Given the description of an element on the screen output the (x, y) to click on. 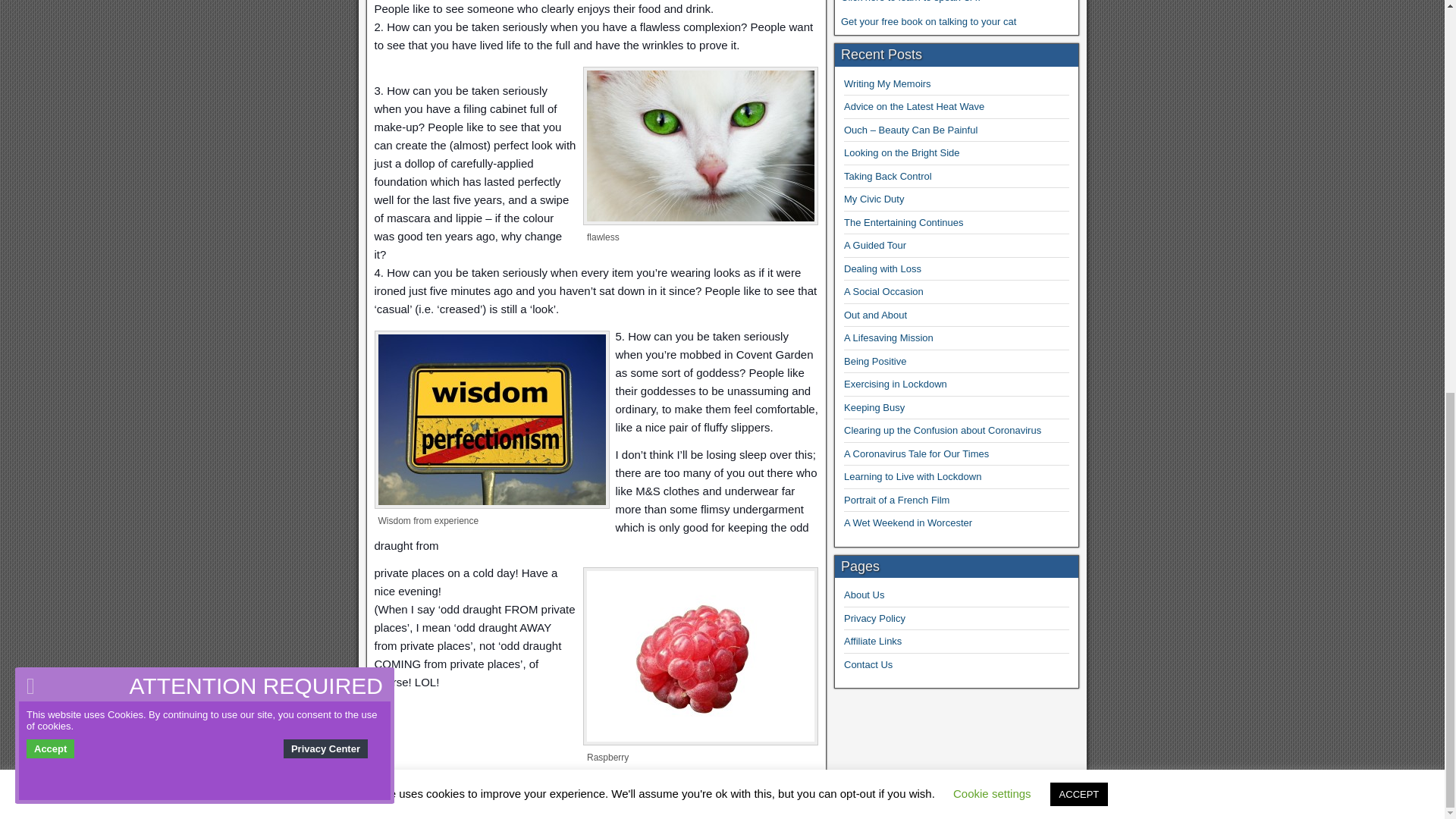
Looking on the Bright Side (901, 152)
About Us (863, 594)
A Social Occasion (883, 291)
Affiliate Links (872, 641)
Advice on the Latest Heat Wave (914, 106)
Writing My Memoirs (887, 83)
Taking Back Control (887, 175)
Clearing up the Confusion about Coronavirus (942, 430)
The Entertaining Continues (903, 222)
Dealing with Loss (882, 268)
Exercising in Lockdown (895, 383)
Being Positive (874, 360)
A Guided Tour (874, 244)
A Wet Weekend in Worcester (908, 522)
Portrait of a French Film (896, 500)
